Given the description of an element on the screen output the (x, y) to click on. 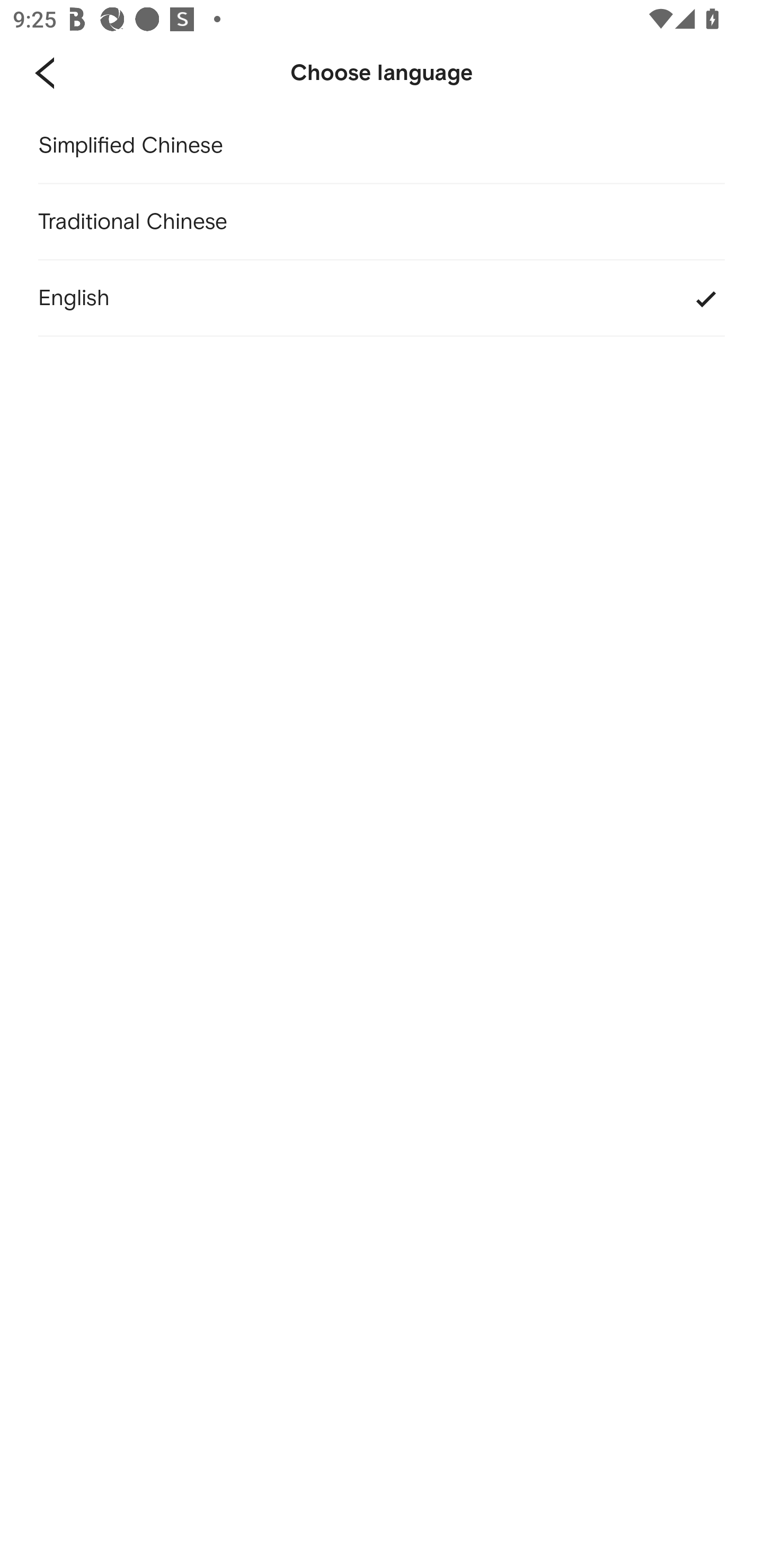
Simplified Chinese (381, 146)
Traditional Chinese (381, 222)
English (381, 298)
